Given the description of an element on the screen output the (x, y) to click on. 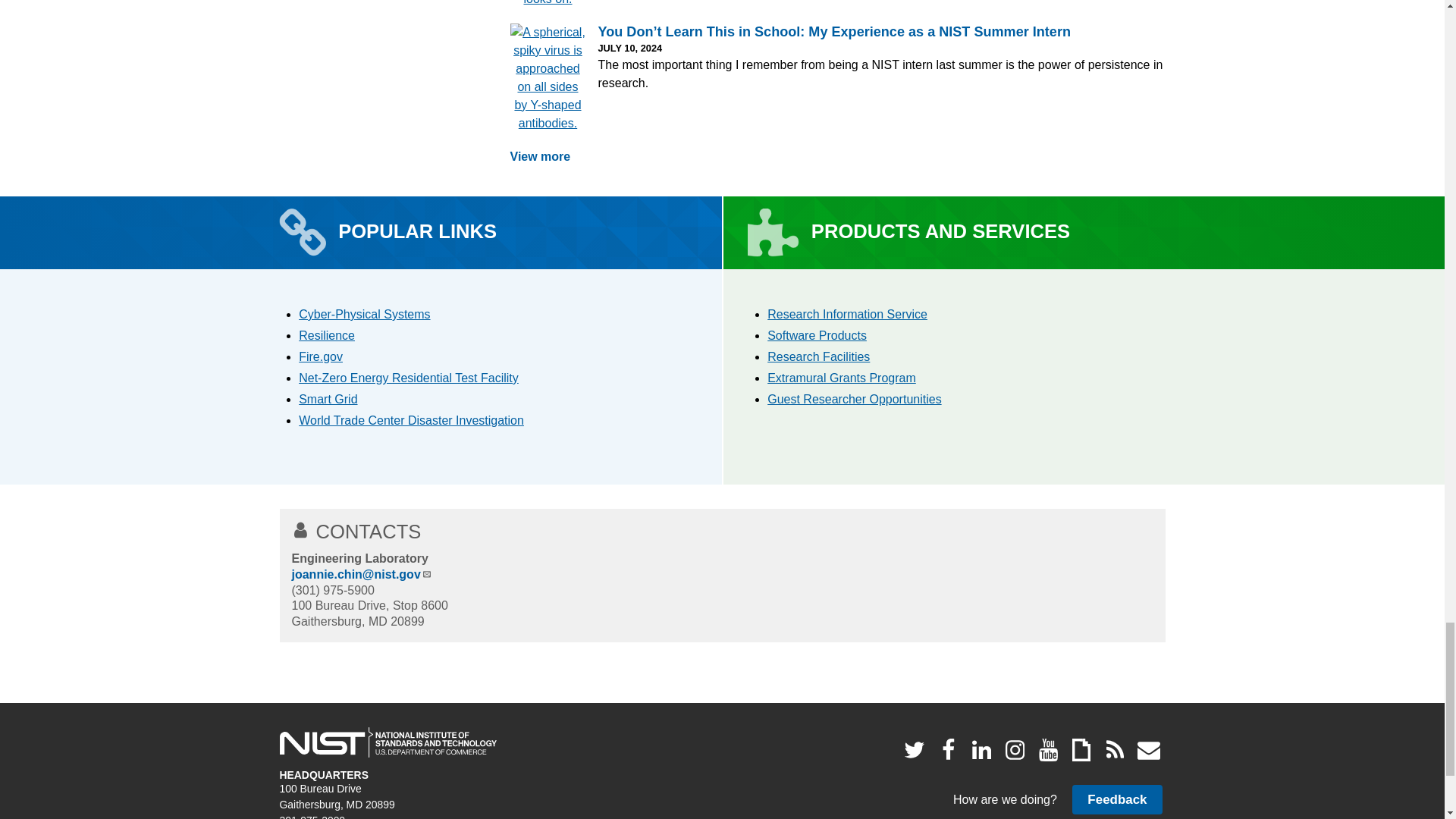
National Institute of Standards and Technology (387, 742)
Fire.Gov (320, 356)
Resilience (326, 335)
EL Extramural Grants (841, 377)
World Trade Center Investigation (411, 420)
EL Research Information Service (847, 314)
Provide feedback (1116, 799)
Work With Us (853, 399)
